Given the description of an element on the screen output the (x, y) to click on. 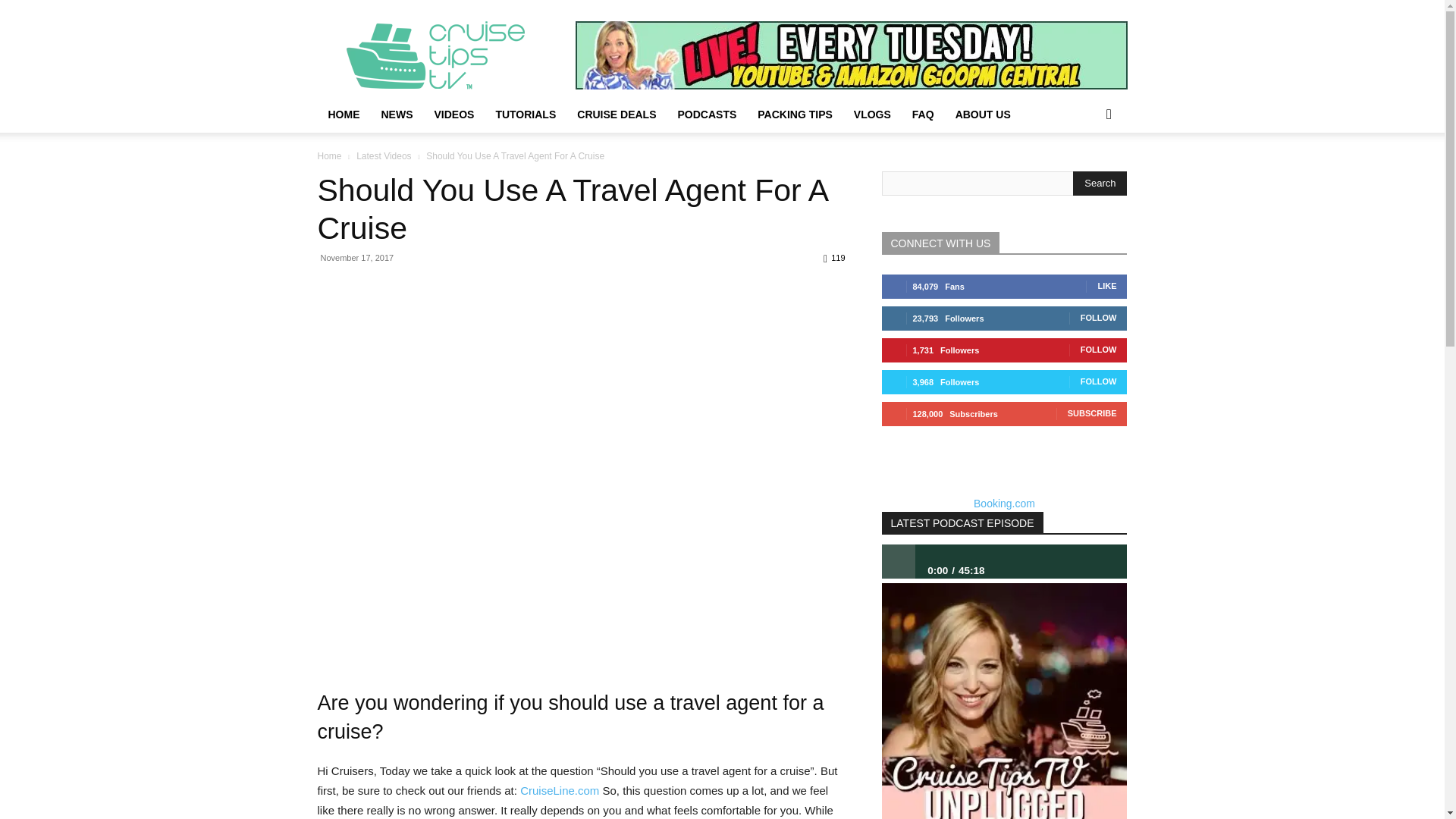
NEWS (396, 114)
Search (1099, 183)
VLOGS (872, 114)
PACKING TIPS (794, 114)
FAQ (922, 114)
ABOUT US (983, 114)
topFacebookLike (430, 285)
CruiseTipsTV - Your source for cruise tips (445, 55)
HOME (343, 114)
CRUISE DEALS (616, 114)
